Given the description of an element on the screen output the (x, y) to click on. 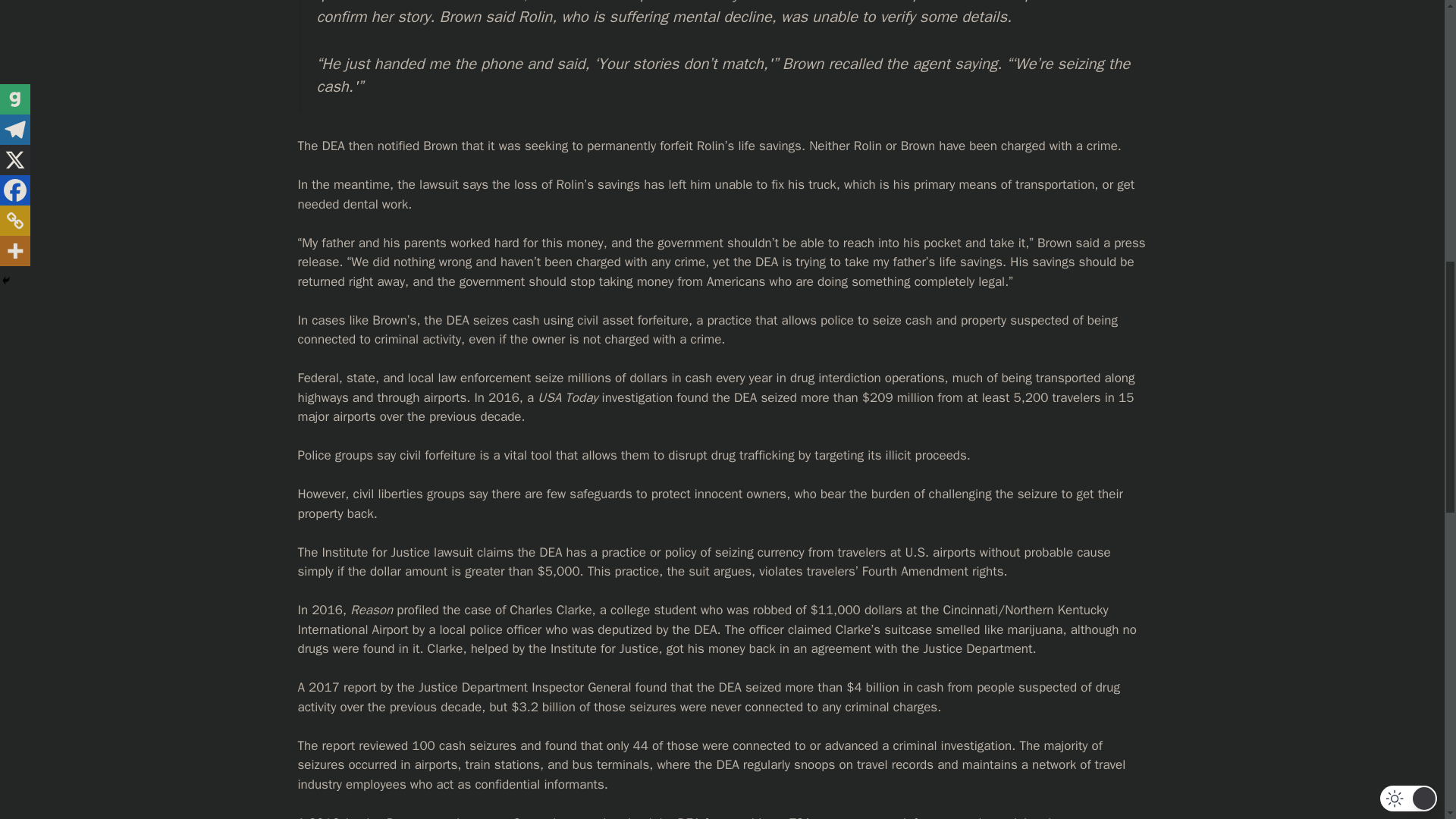
chastised (623, 816)
investigation (637, 397)
regularly snoops (788, 764)
profiled (417, 609)
